Given the description of an element on the screen output the (x, y) to click on. 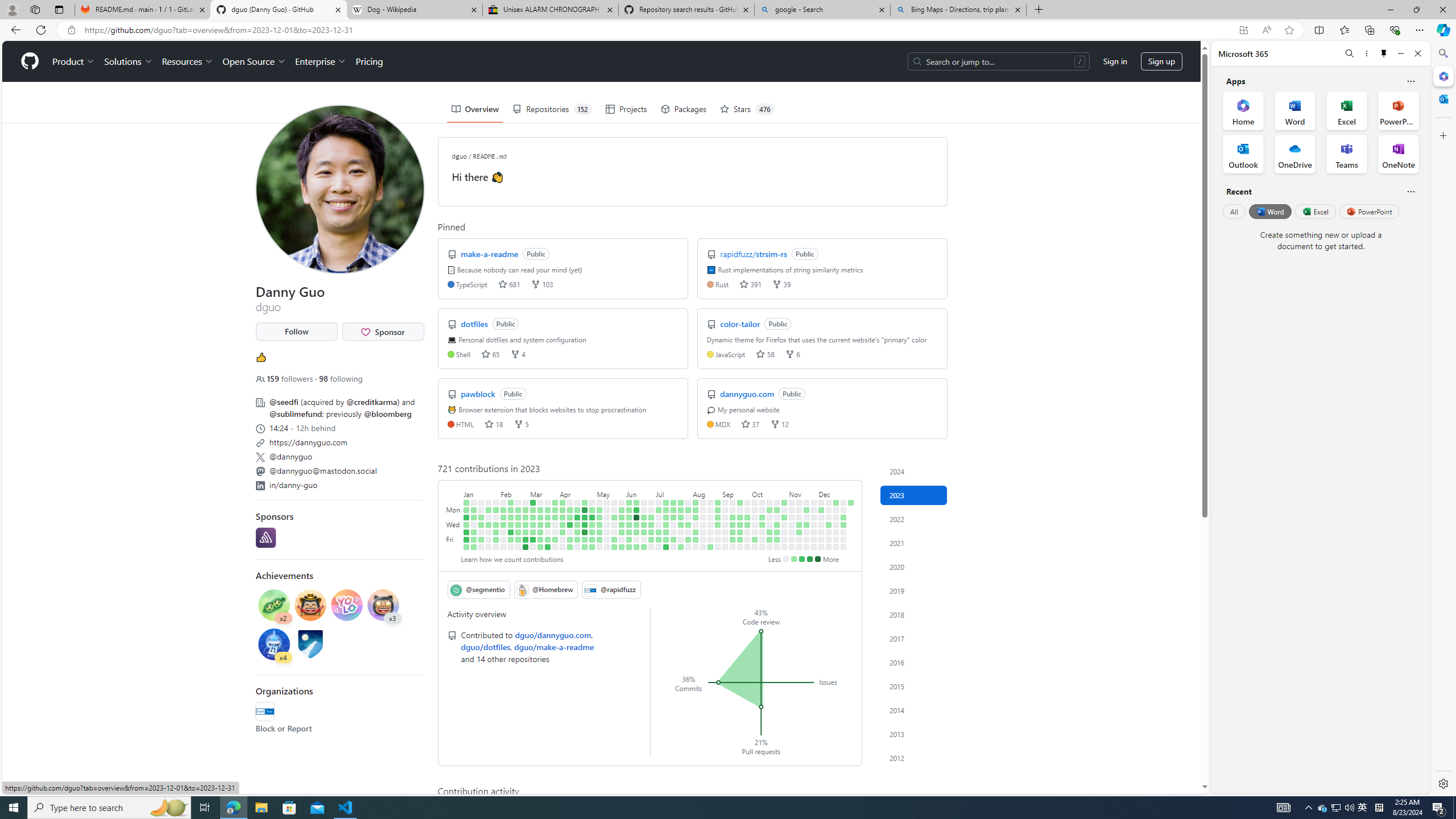
3 contributions on May 12th. (599, 539)
5 contributions on October 6th. (754, 539)
@dannyguo@mastodon.social (323, 470)
No contributions on January 19th. (481, 531)
1 contribution on July 18th. (674, 517)
1 contribution on October 19th. (770, 531)
No contributions on November 10th. (791, 539)
2 contributions on March 16th. (540, 531)
1 contribution on February 2nd. (496, 531)
No contributions on July 28th. (681, 539)
Friday (454, 539)
1 contribution on April 6th. (562, 531)
Contribution activity in 2020 (913, 566)
Pricing (368, 60)
No contributions on May 18th. (607, 531)
